Given the description of an element on the screen output the (x, y) to click on. 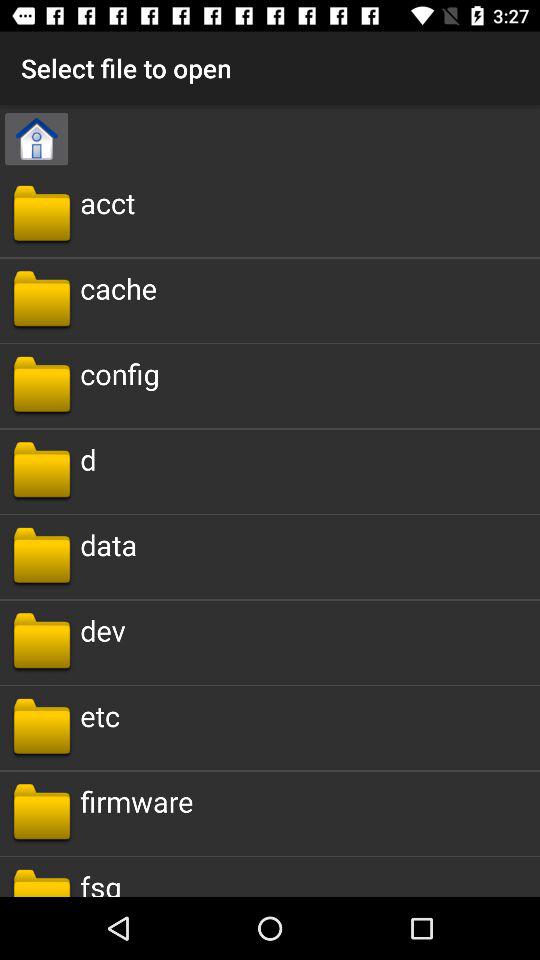
select item above etc (102, 629)
